Given the description of an element on the screen output the (x, y) to click on. 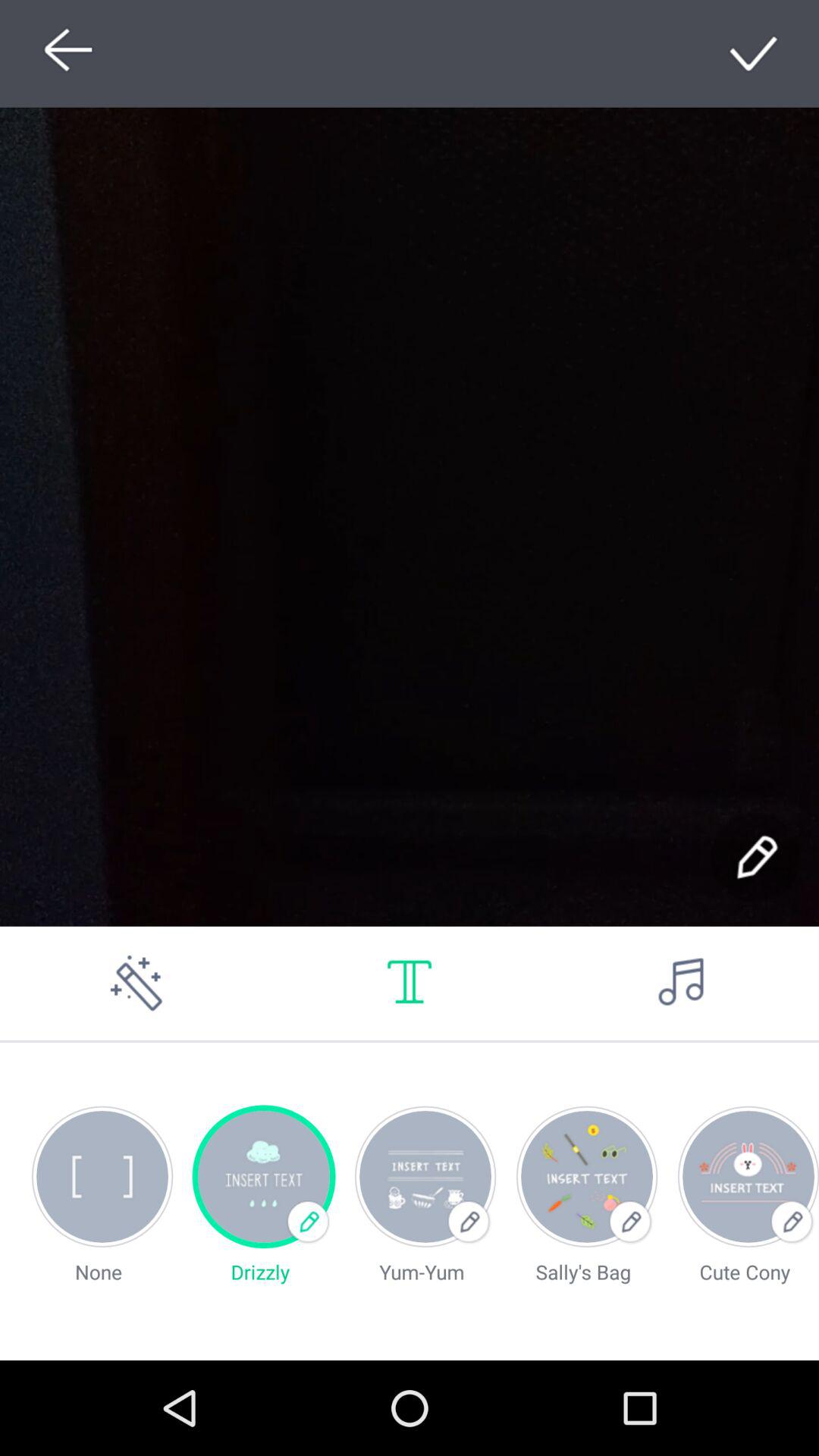
select text (409, 983)
